Given the description of an element on the screen output the (x, y) to click on. 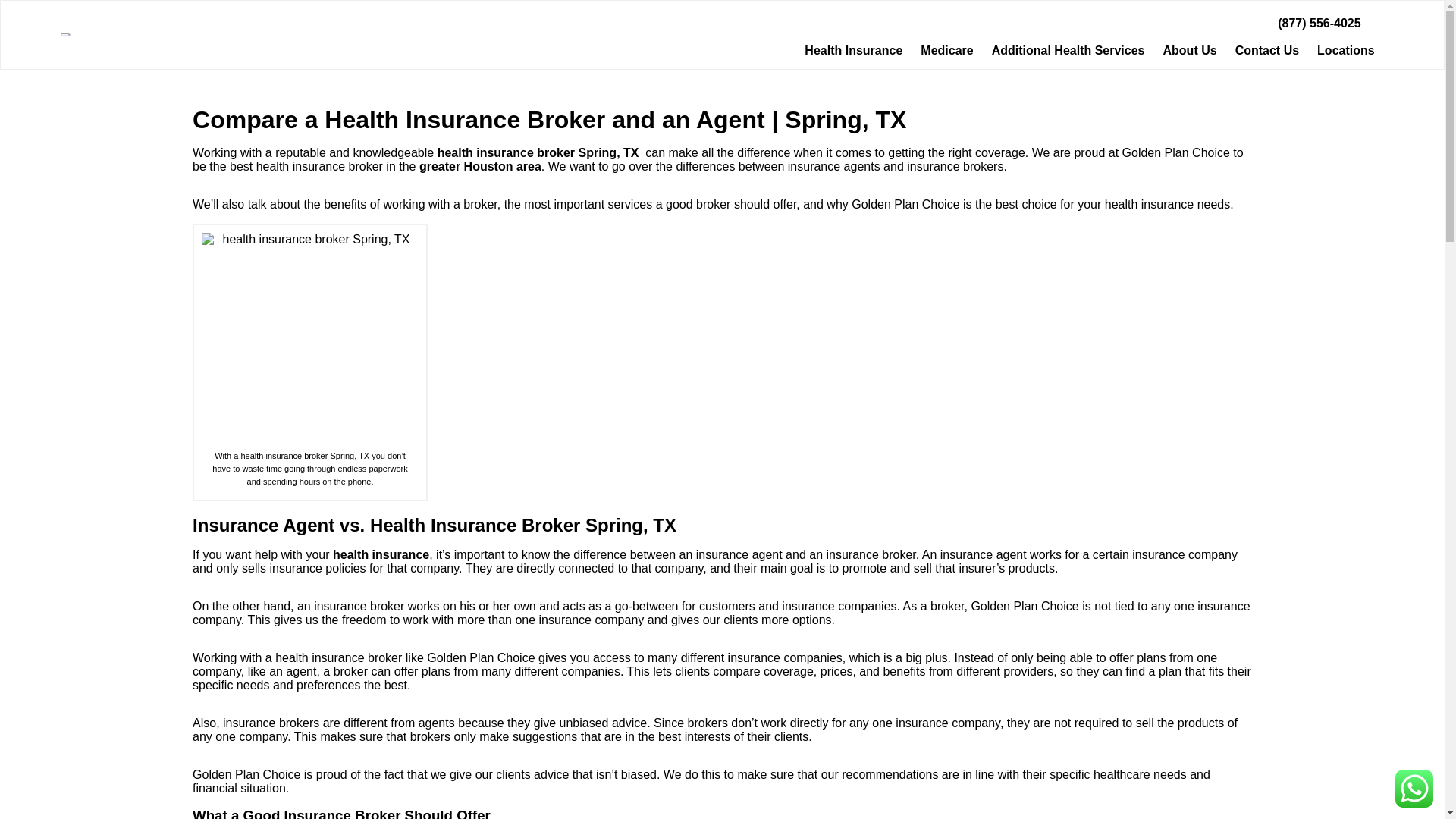
health insurance (381, 554)
Contact Us (1266, 50)
Health Insurance (852, 50)
Medicare (946, 50)
About Us (1189, 50)
Locations (1345, 50)
Additional Health Services (1068, 50)
greater Houston area (480, 165)
